Given the description of an element on the screen output the (x, y) to click on. 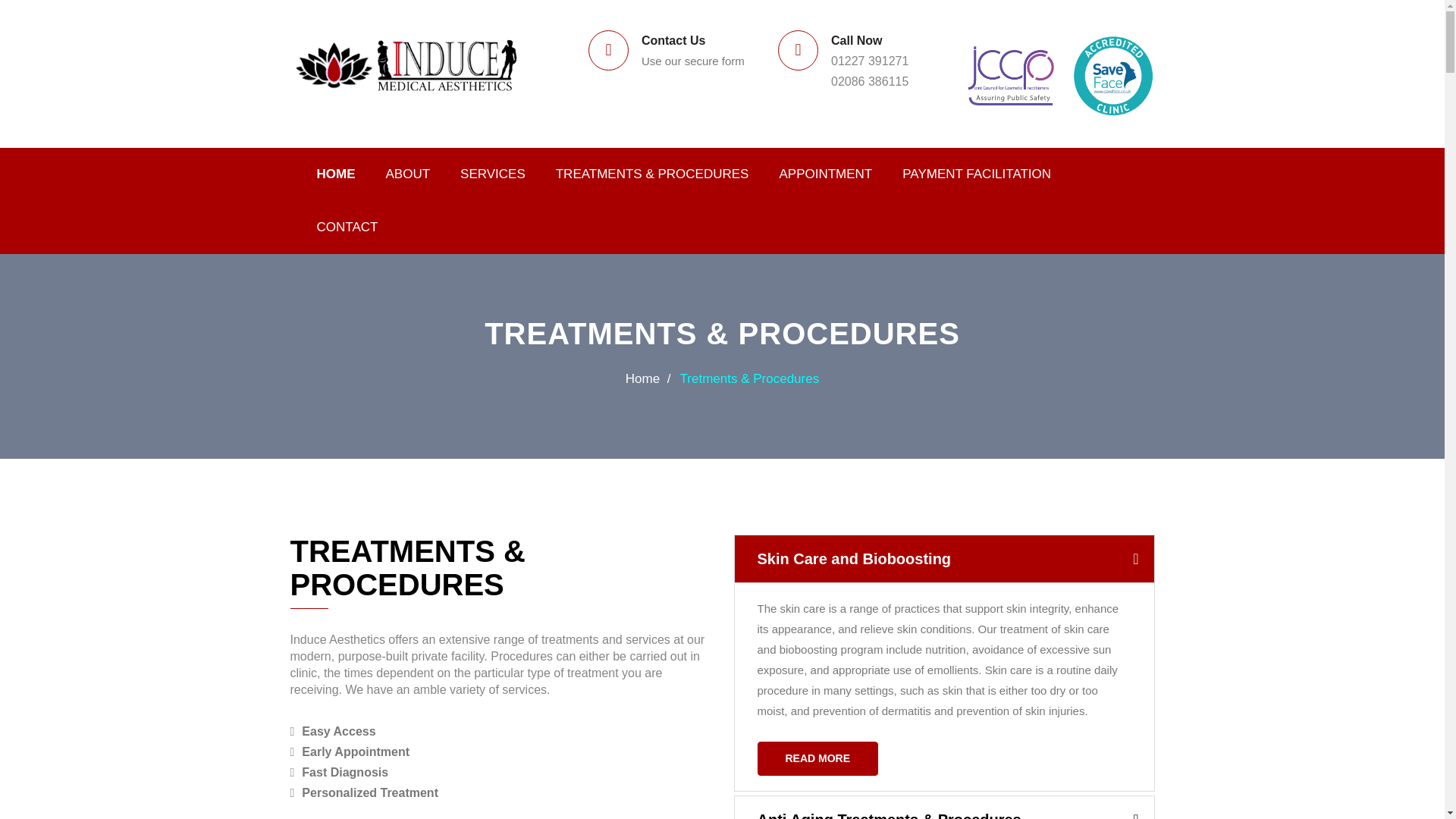
APPOINTMENT (824, 174)
CONTACT (347, 226)
HOME (336, 174)
ABOUT (407, 174)
SERVICES (492, 174)
Use our secure form (693, 60)
Skin Care and Bioboosting (943, 558)
PAYMENT FACILITATION (975, 174)
READ MORE (817, 758)
